Given the description of an element on the screen output the (x, y) to click on. 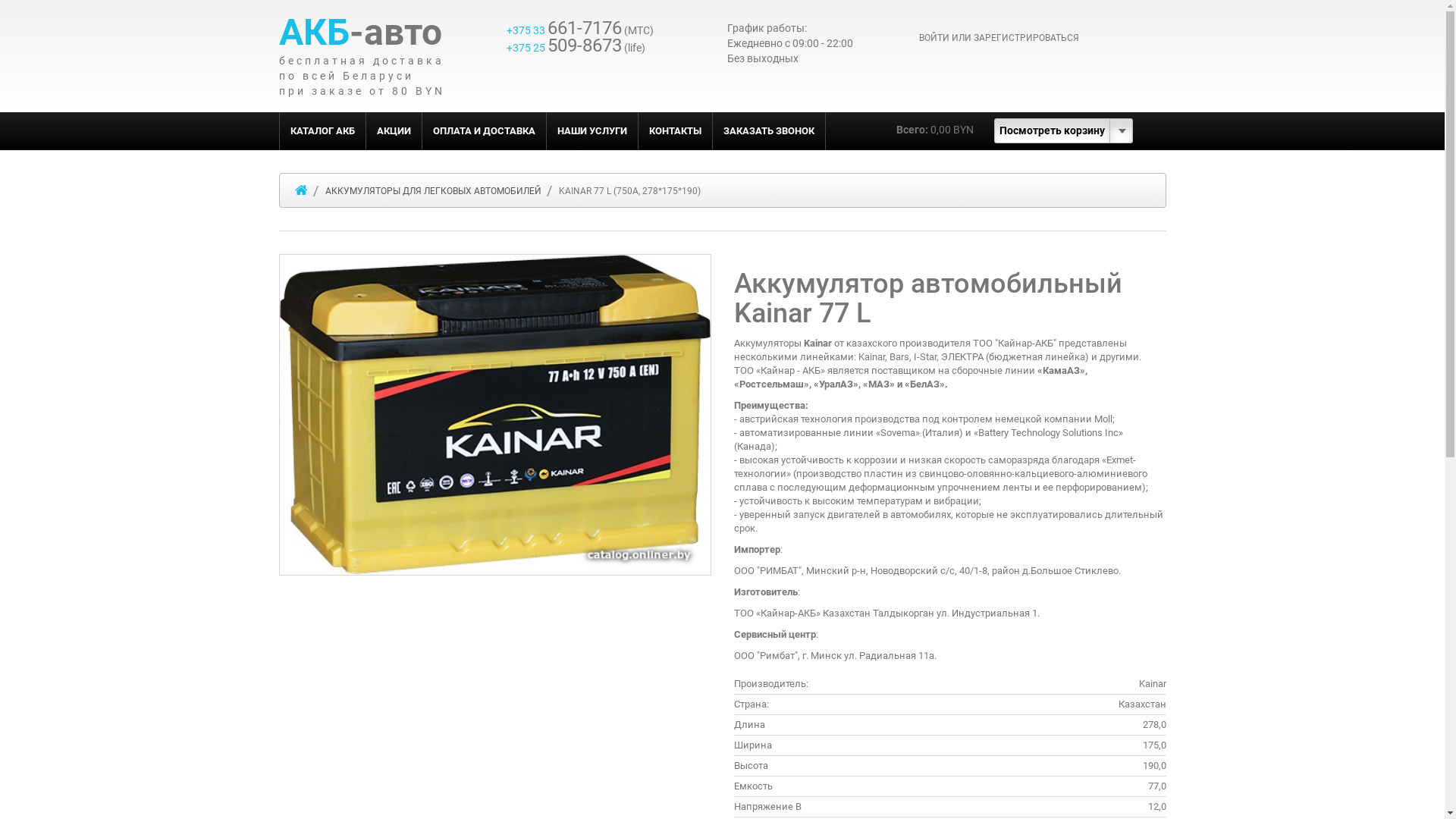
+375 25 509-8673 (life) Element type: text (575, 47)
